Given the description of an element on the screen output the (x, y) to click on. 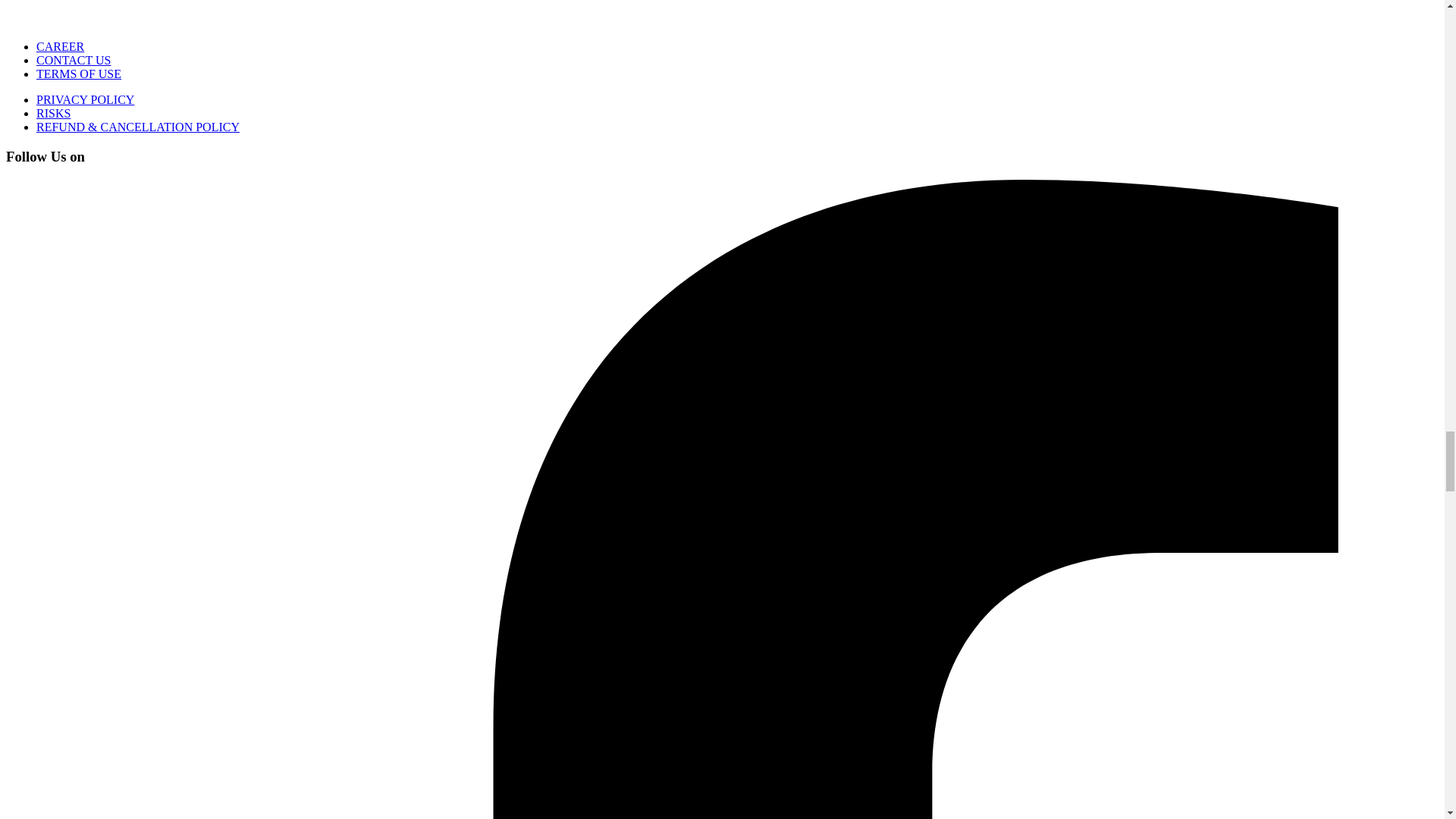
RISKS (52, 113)
PRIVACY POLICY (84, 99)
TERMS OF USE (78, 73)
CONTACT US (73, 60)
CAREER (60, 46)
